Given the description of an element on the screen output the (x, y) to click on. 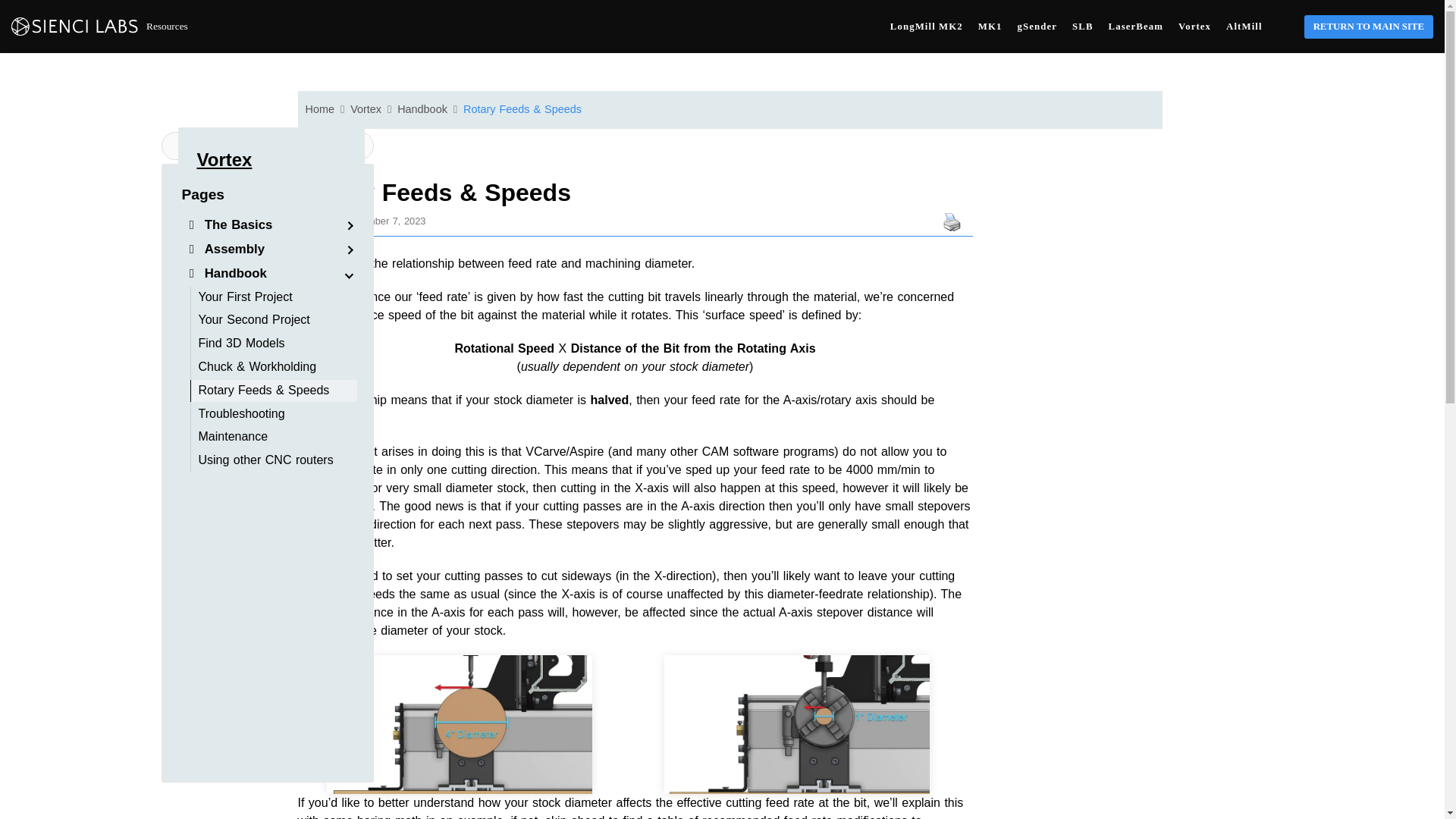
Vortex (223, 159)
SLB (1082, 26)
MK1 (990, 26)
Sienci Resources (99, 26)
LaserBeam (1135, 26)
gSender (1037, 26)
Skip to content (15, 7)
LongMill MK2 (925, 26)
AltMill (1243, 26)
Vortex (1194, 26)
Print Content (951, 222)
Resources (99, 26)
